Given the description of an element on the screen output the (x, y) to click on. 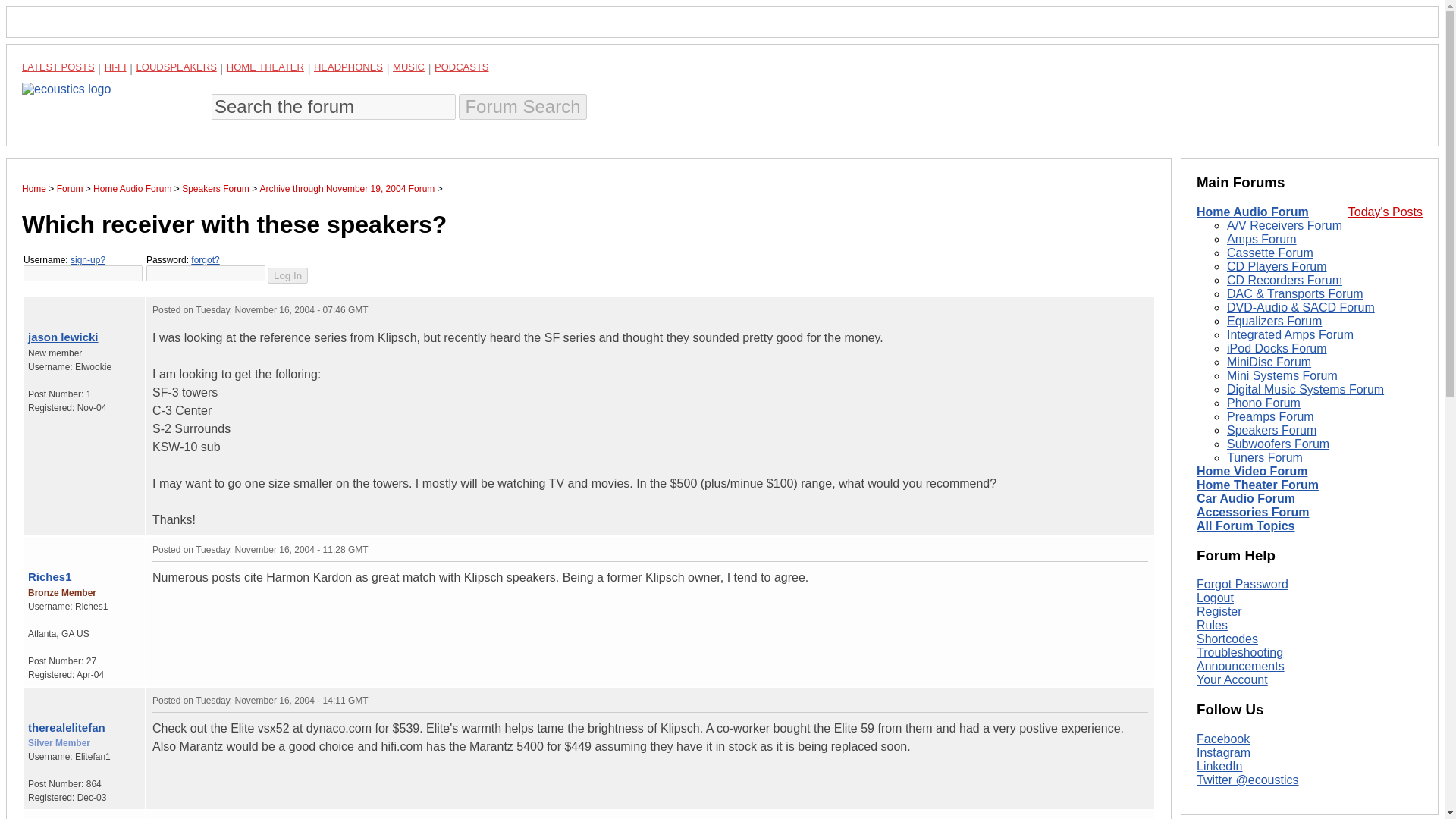
Edit Post (1140, 309)
last post (50, 307)
link to this post (68, 307)
top of page (32, 817)
Log In (287, 275)
jason lewicki (63, 336)
previous post (41, 546)
HEADPHONES (348, 66)
LOUDSPEAKERS (176, 66)
Edit Post (1140, 699)
HI-FI (115, 66)
Home Audio Forum (132, 188)
Home (33, 188)
top of page (32, 307)
HOME THEATER (265, 66)
